Given the description of an element on the screen output the (x, y) to click on. 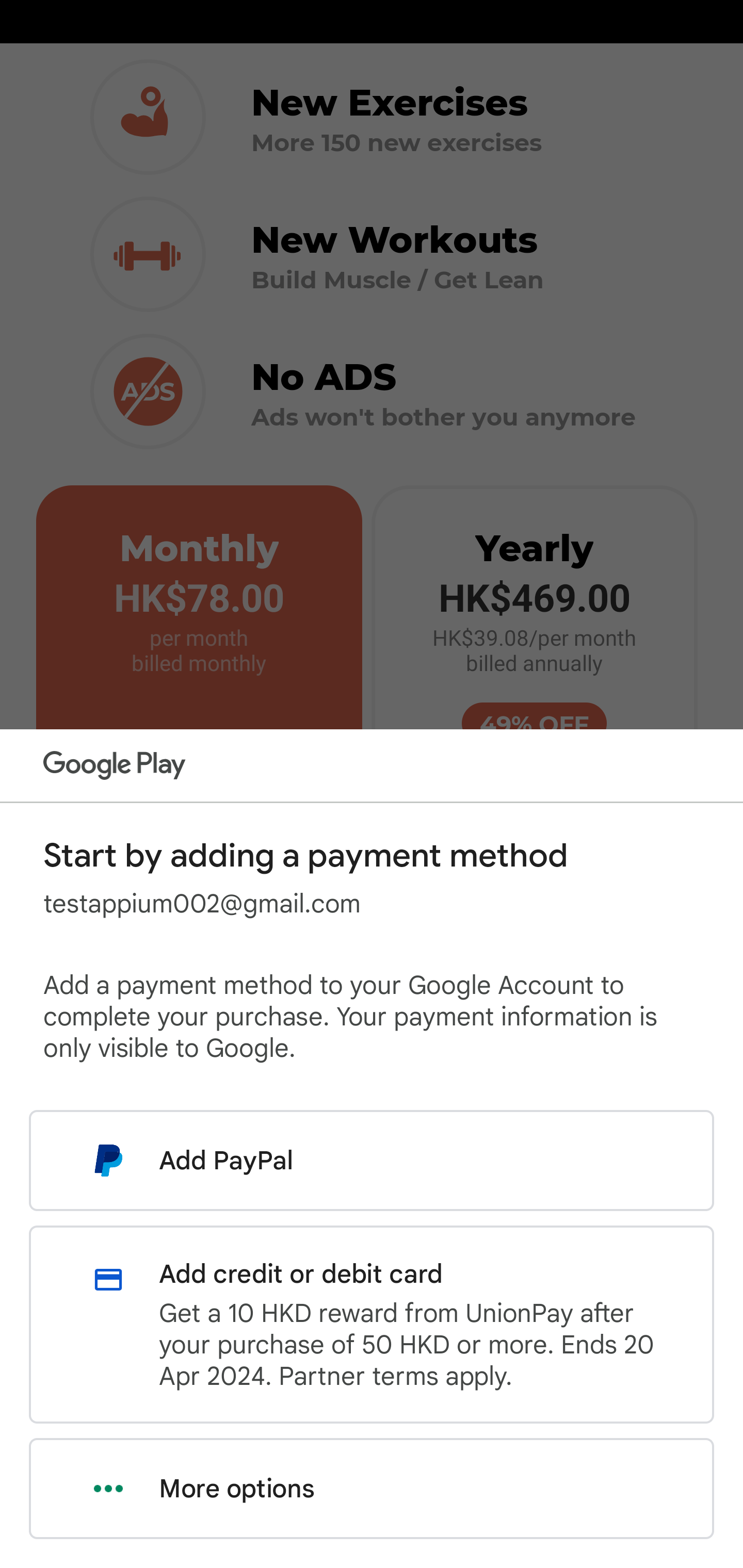
Add PayPal (371, 1160)
More options (371, 1488)
